Given the description of an element on the screen output the (x, y) to click on. 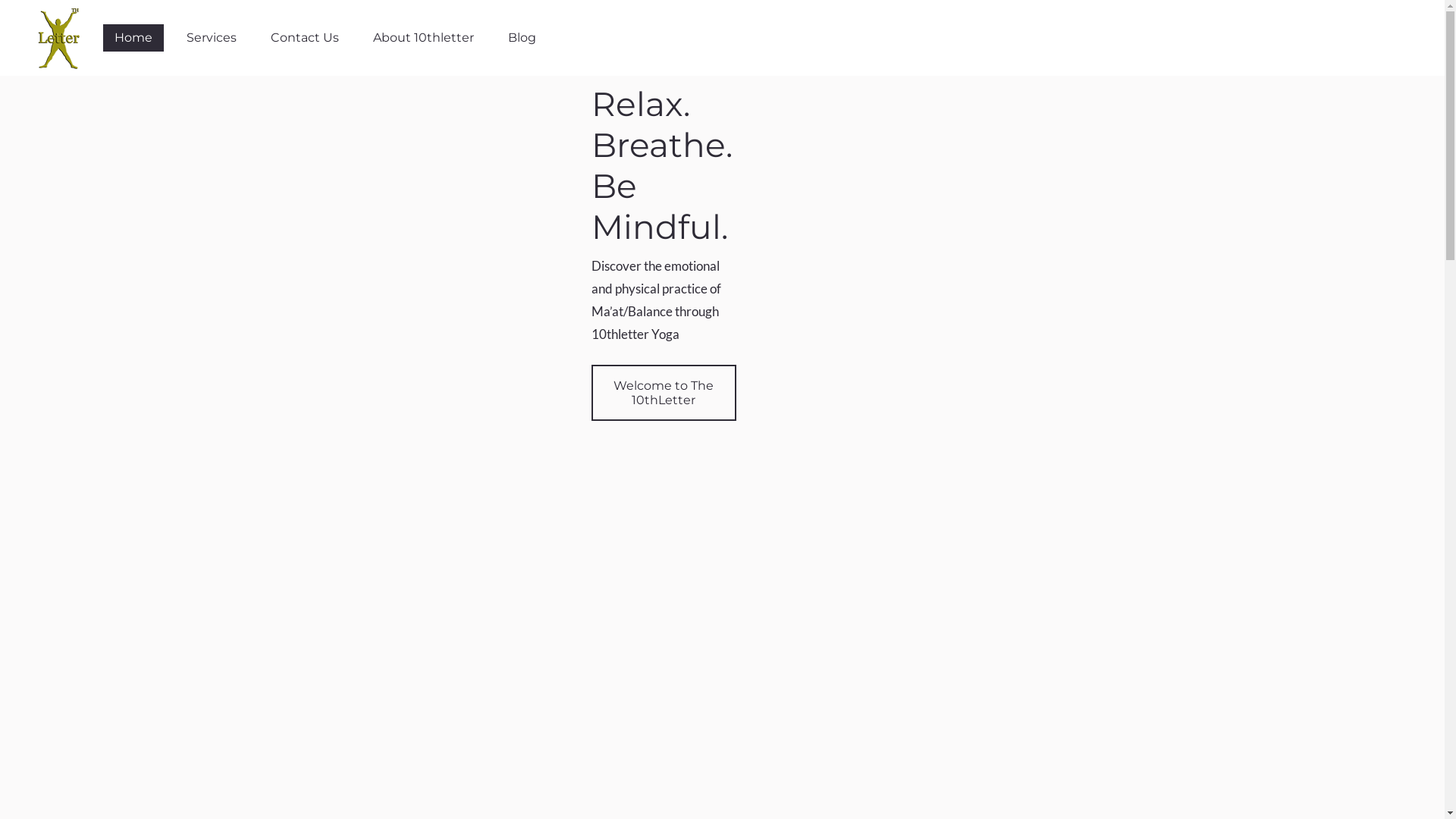
Blog Element type: text (521, 37)
About 10thletter Element type: text (423, 37)
Home Element type: text (133, 37)
Services Element type: text (211, 37)
Contact Us Element type: text (304, 37)
Welcome to The 10thLetter Element type: text (663, 392)
